Given the description of an element on the screen output the (x, y) to click on. 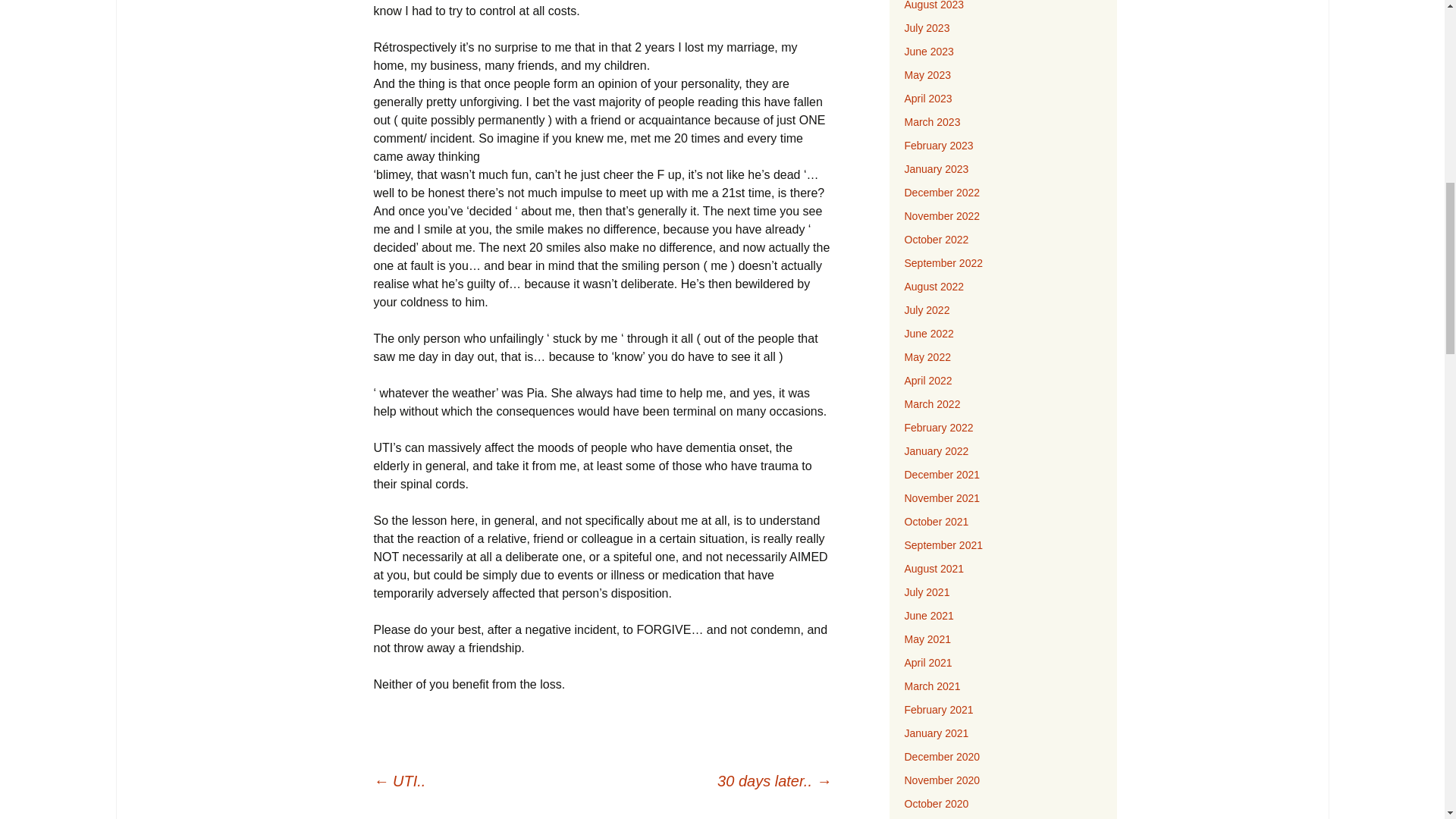
August 2023 (933, 5)
